Given the description of an element on the screen output the (x, y) to click on. 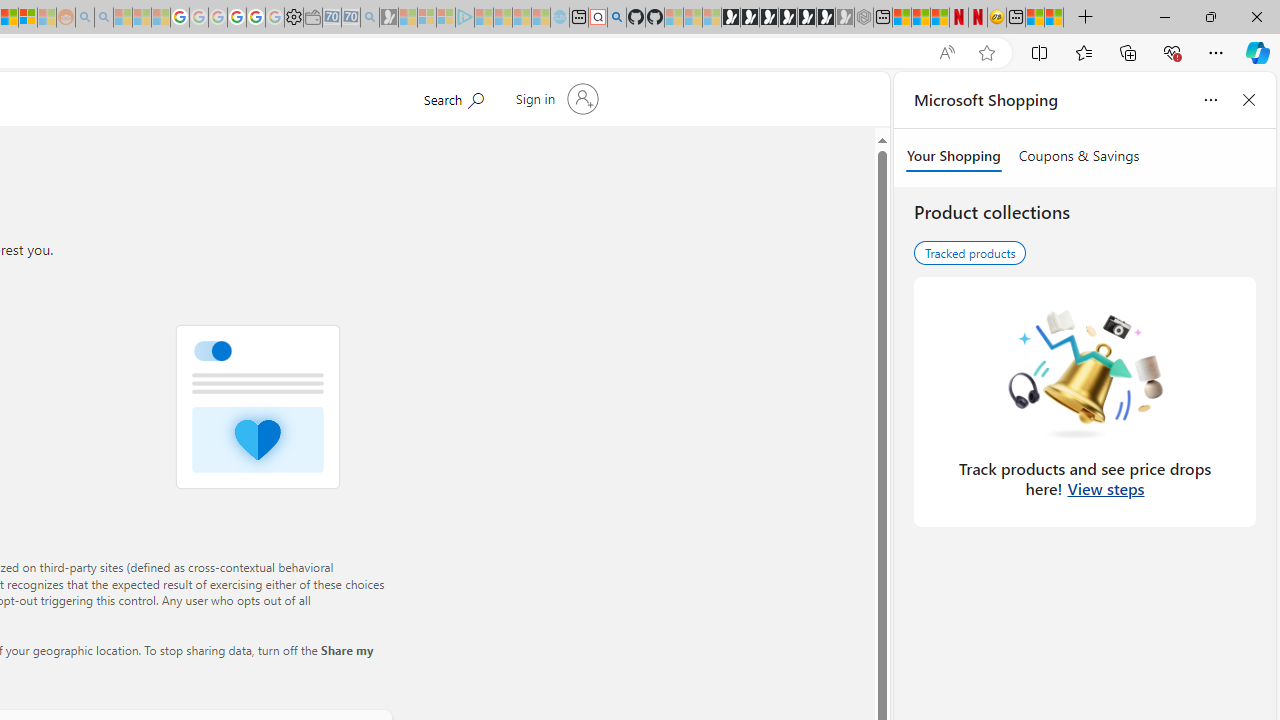
github - Search (616, 17)
